Given the description of an element on the screen output the (x, y) to click on. 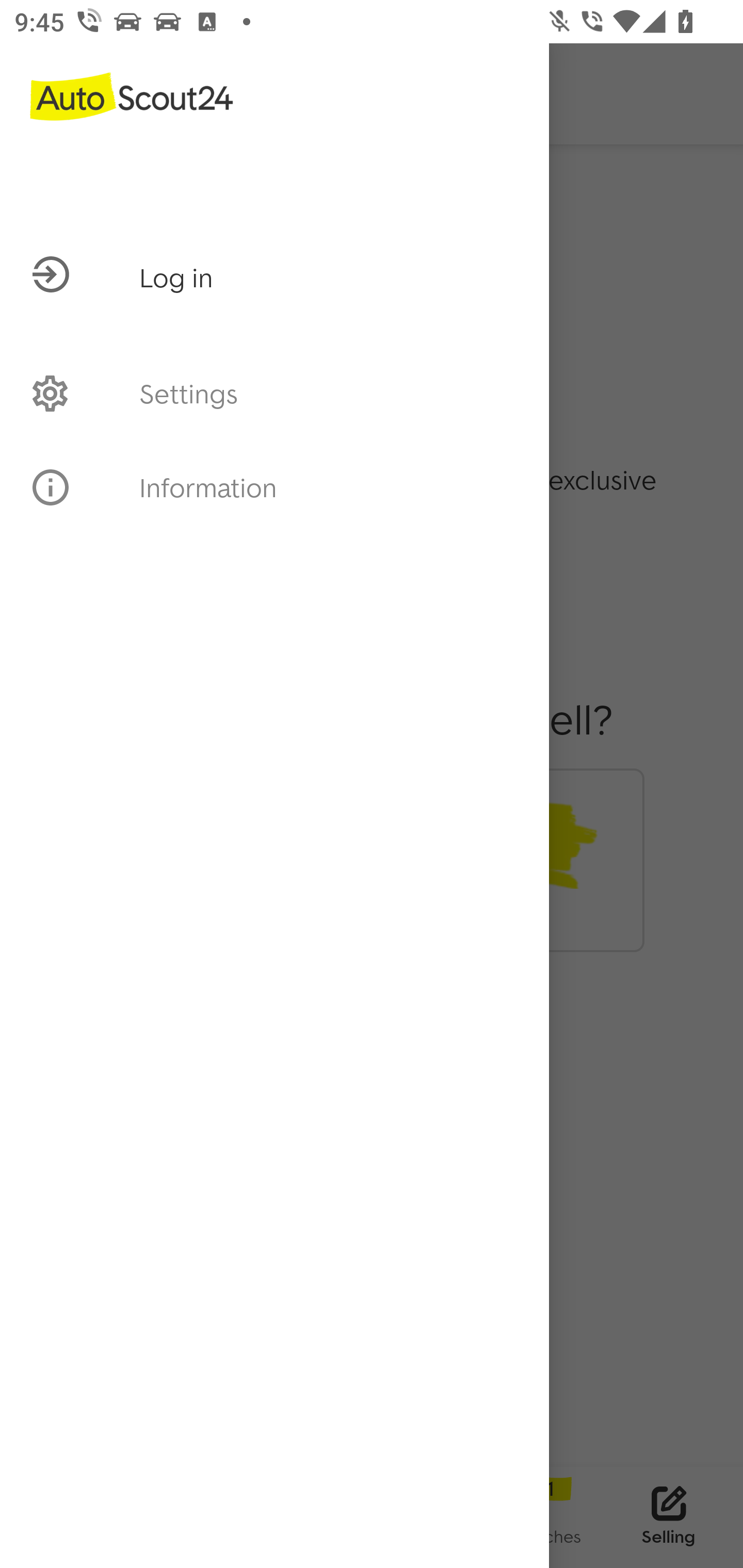
Log in (274, 187)
PROFILE Settings (274, 393)
INFO Information (274, 487)
